Given the description of an element on the screen output the (x, y) to click on. 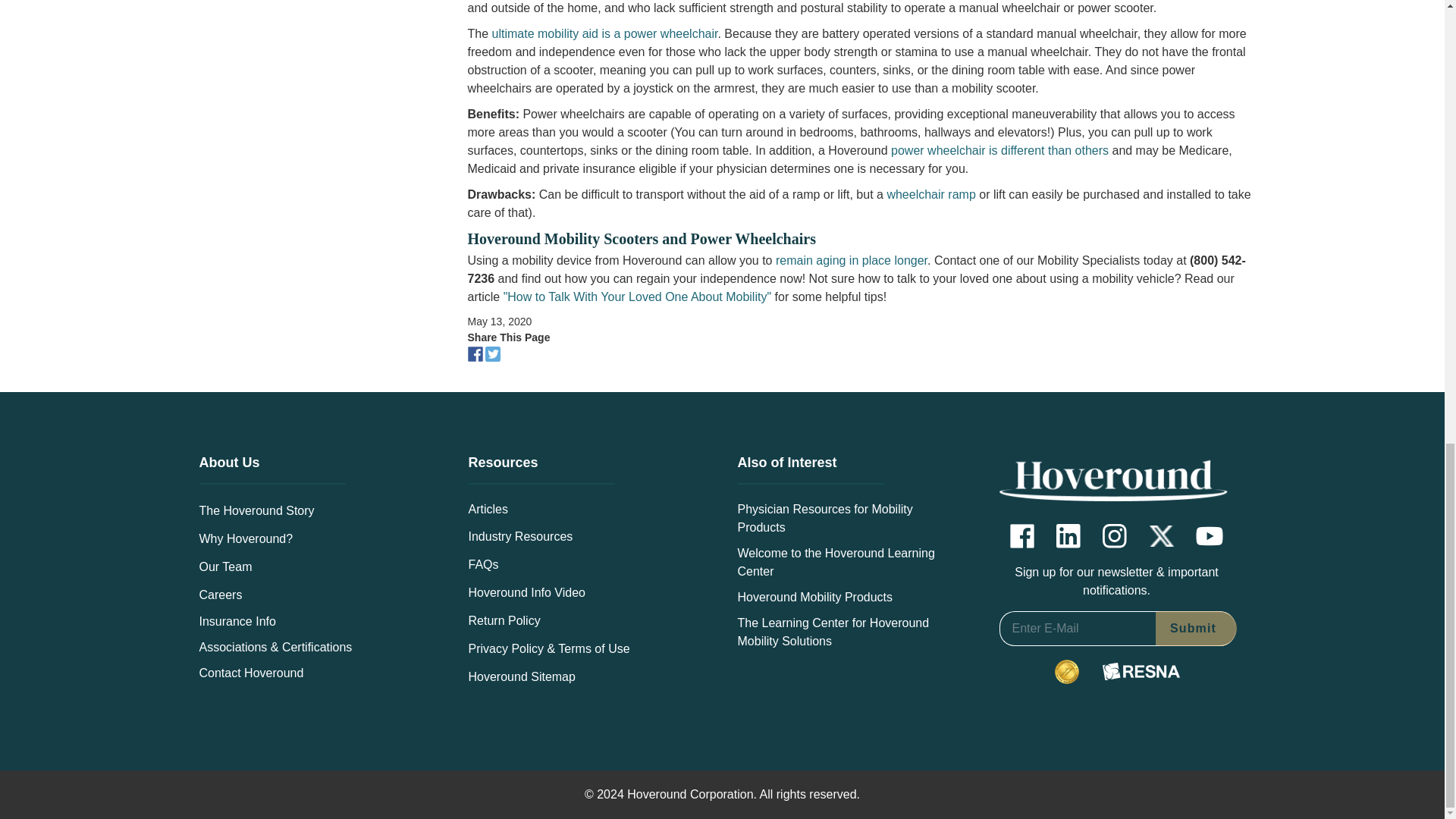
LinkedIn (1068, 535)
Share on Facebook (475, 353)
Facebook (1021, 535)
Share on Twitter (493, 353)
Instagram (1114, 535)
X (1161, 536)
